Given the description of an element on the screen output the (x, y) to click on. 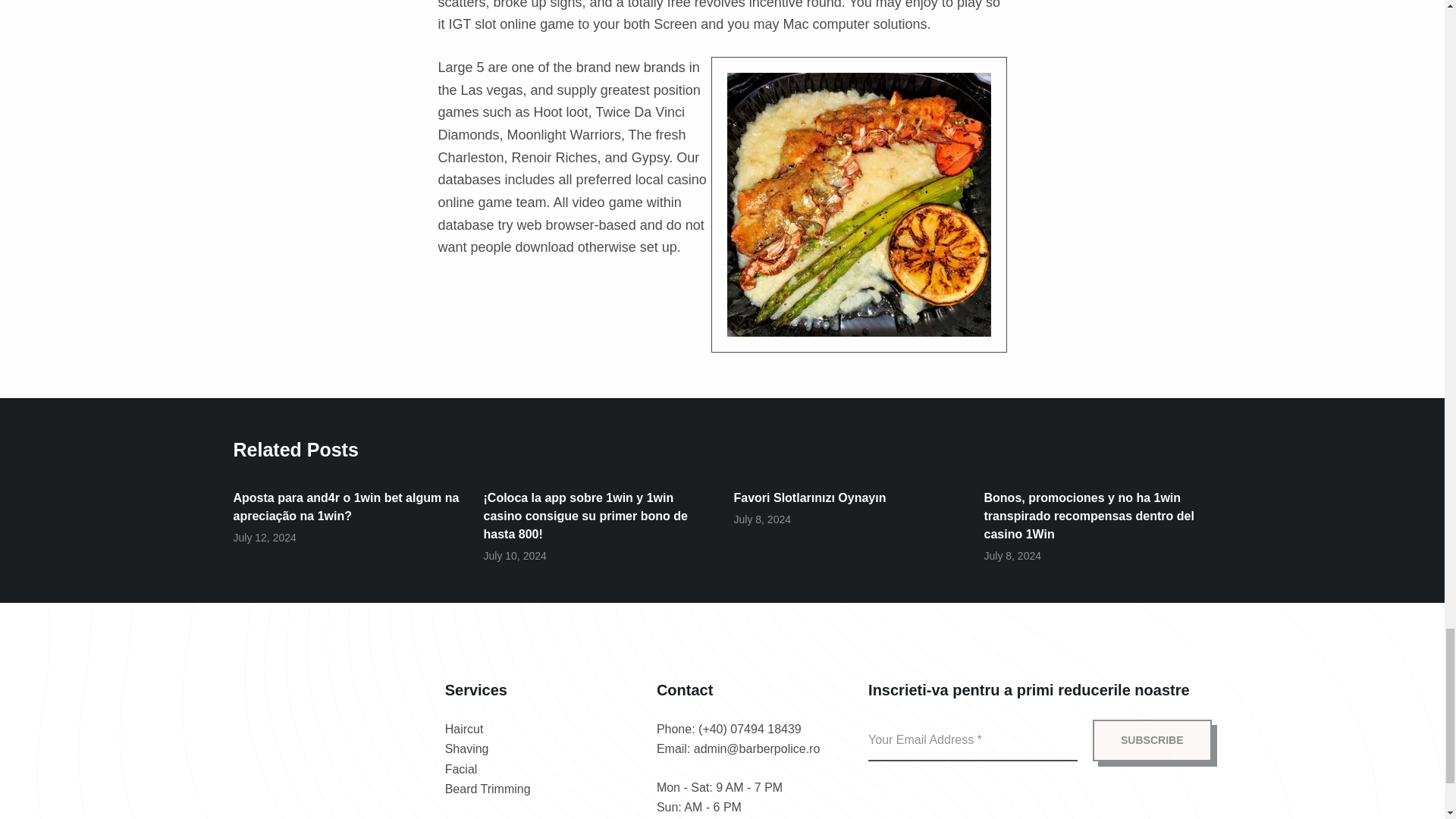
Haircut (464, 728)
Shaving (467, 748)
Beard Trimming (488, 788)
SUBSCRIBE (1152, 740)
Facial (461, 768)
